Given the description of an element on the screen output the (x, y) to click on. 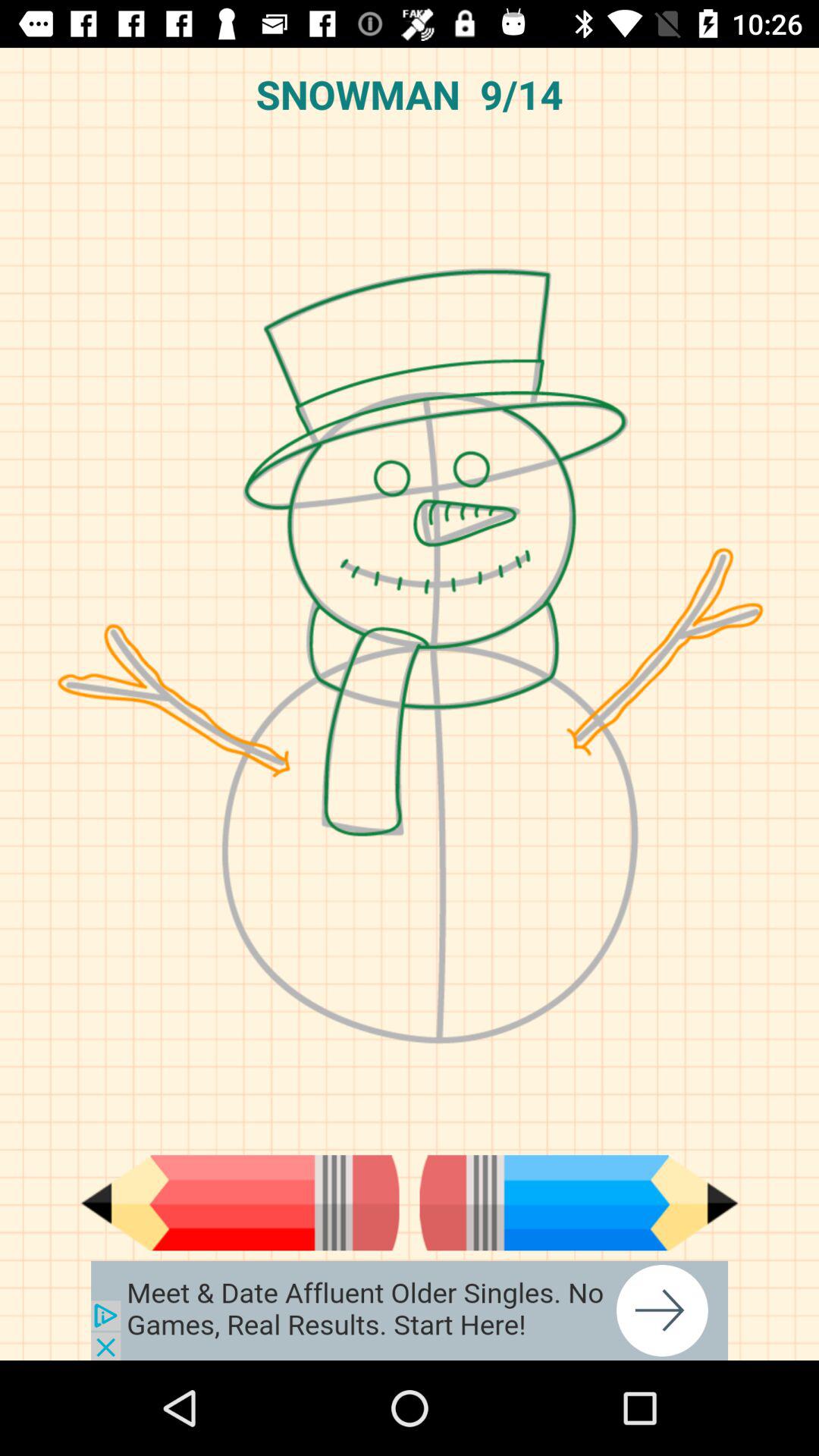
go to previous button (239, 1202)
